Given the description of an element on the screen output the (x, y) to click on. 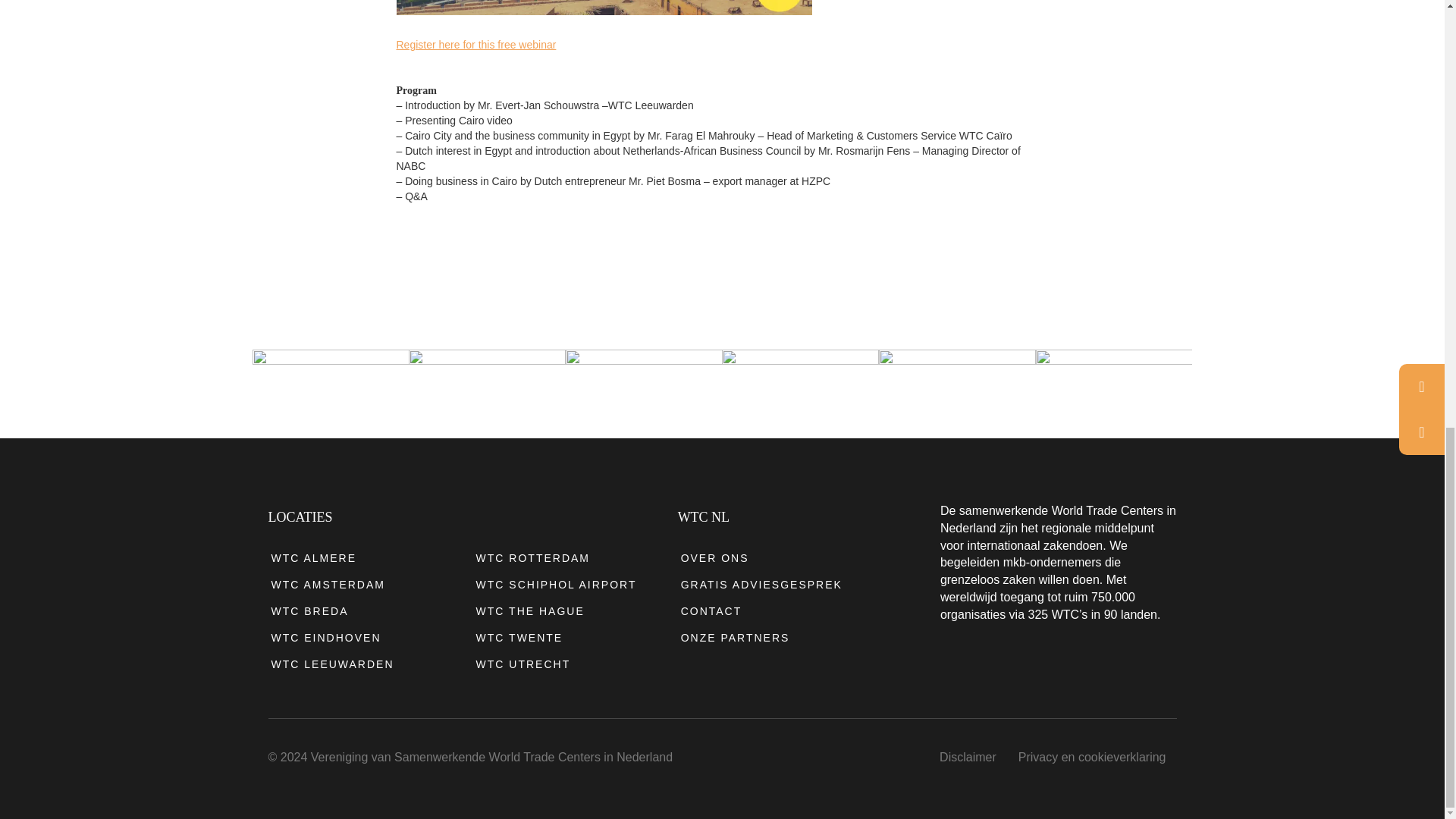
Rotterdam partners (957, 386)
KVK (487, 386)
VNONCW (330, 386)
NL in business (800, 386)
MKB (644, 386)
Rijksdienst (1113, 386)
